Given the description of an element on the screen output the (x, y) to click on. 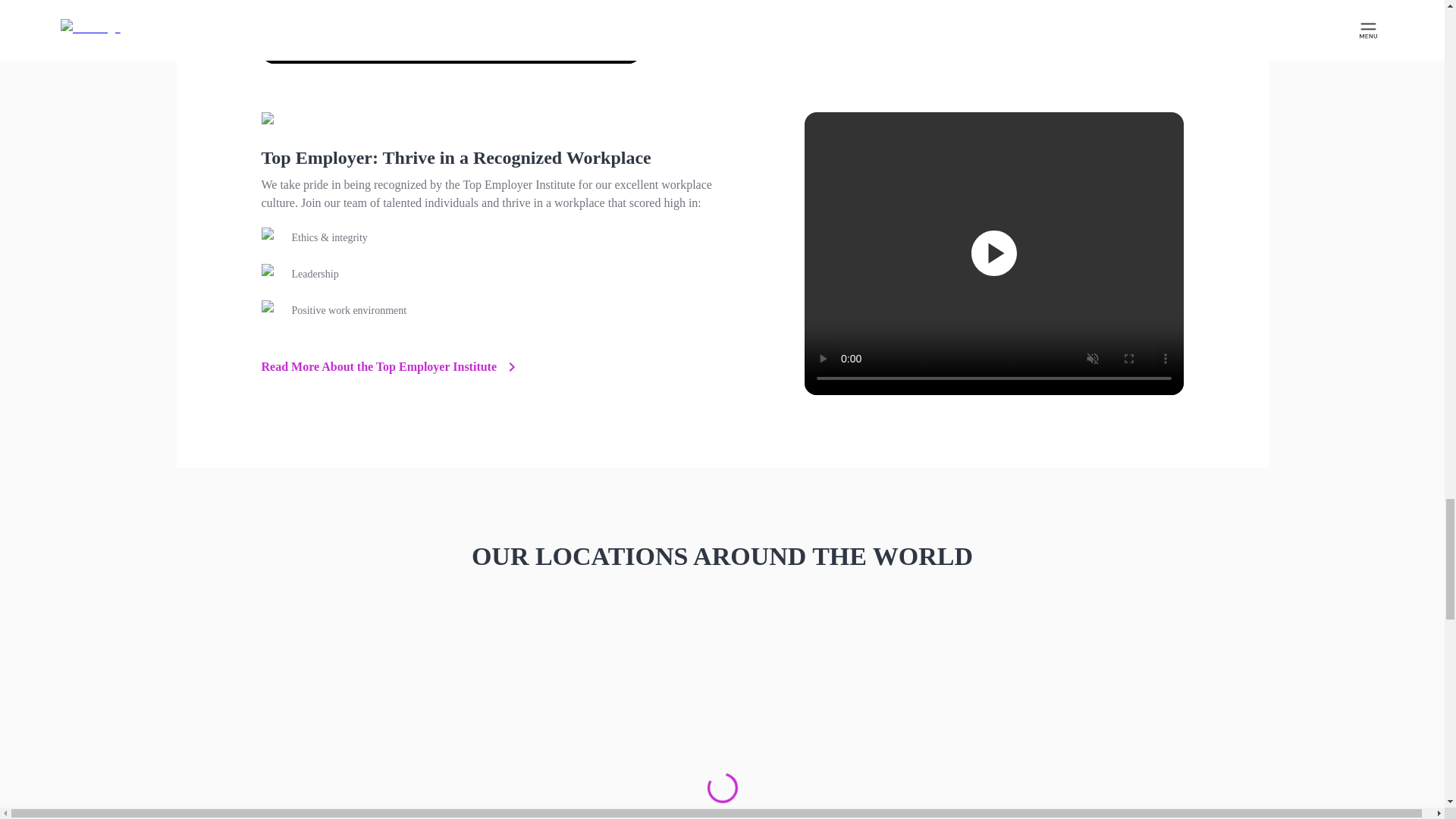
Read More About the Top Employer Institute (390, 366)
